Given the description of an element on the screen output the (x, y) to click on. 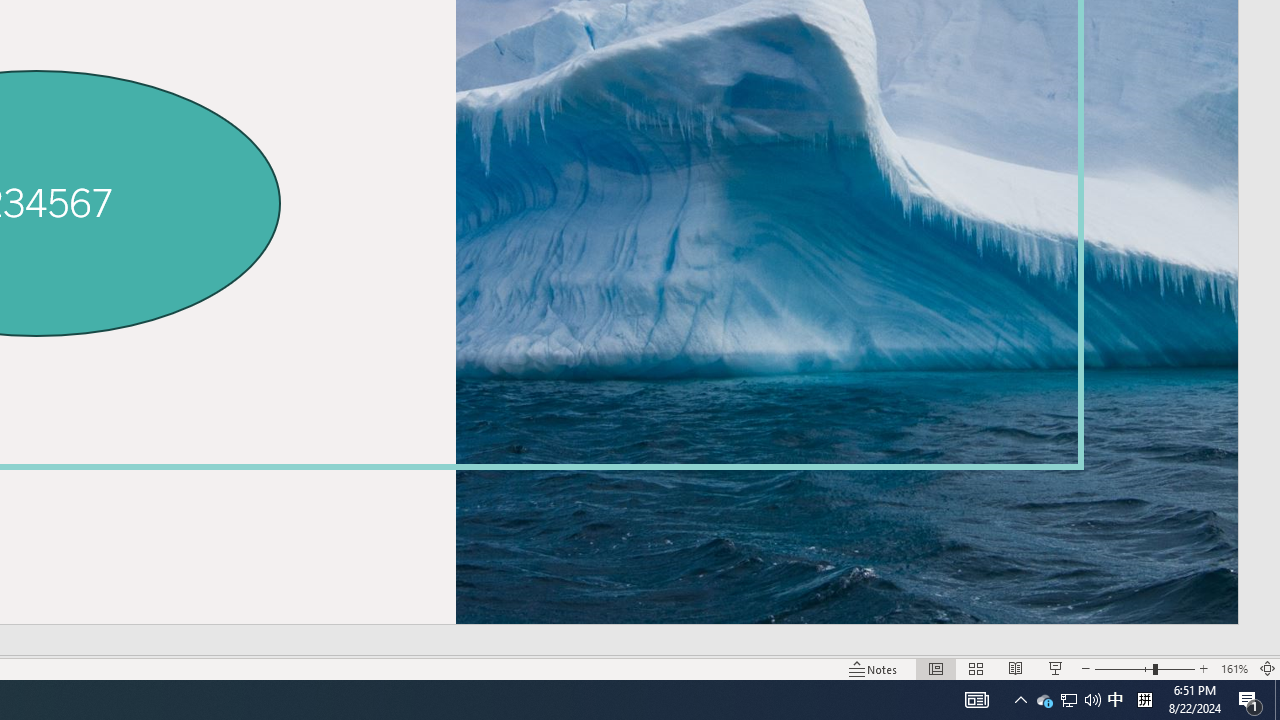
Zoom 161% (1234, 668)
